Given the description of an element on the screen output the (x, y) to click on. 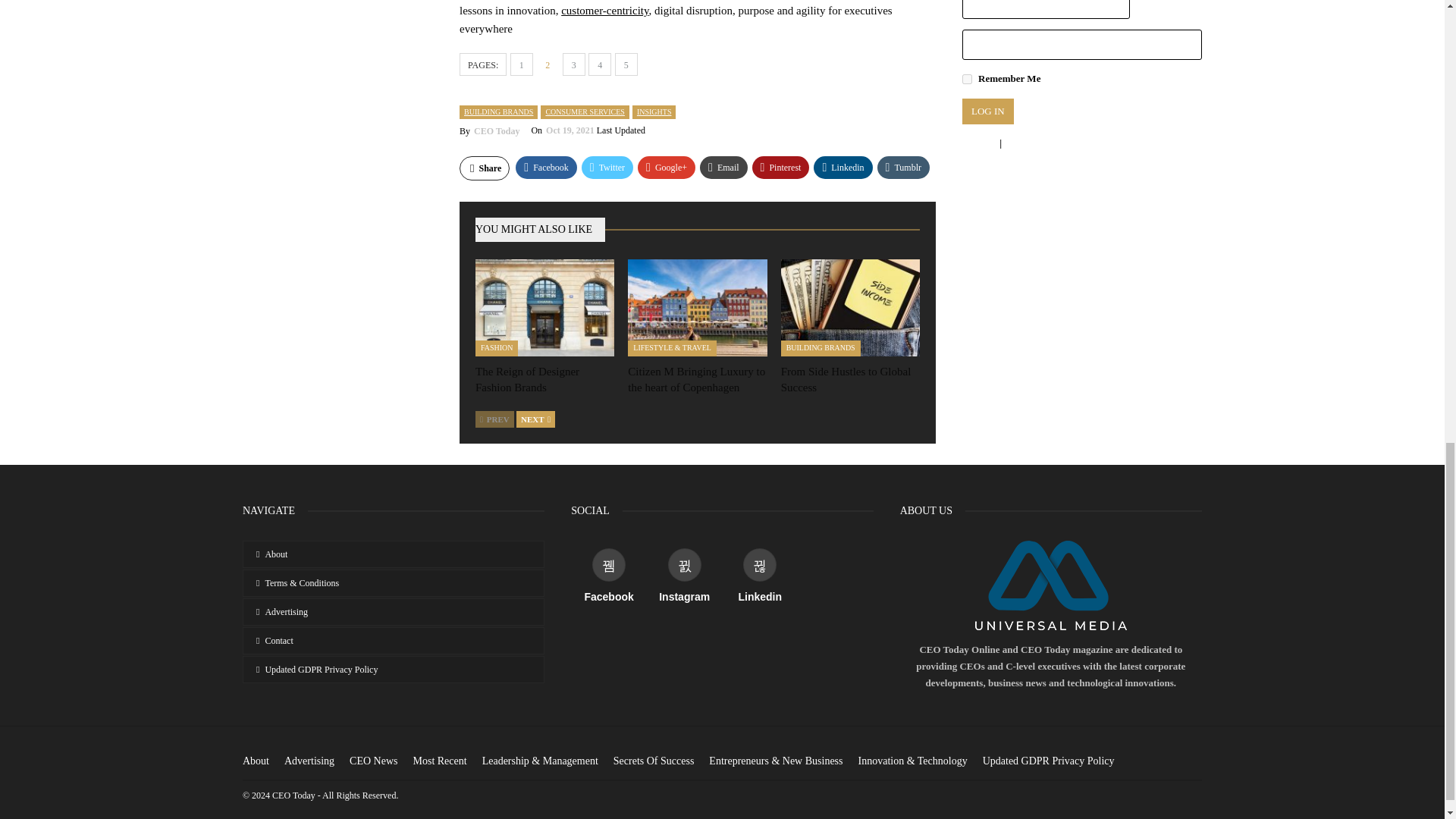
Log In (987, 111)
Citizen M Bringing Luxury to the heart of Copenhagen (697, 307)
Next (535, 419)
Previous (494, 419)
forever (967, 79)
From Side Hustles to Global Success (850, 307)
From Side Hustles to Global Success (845, 379)
Citizen M Bringing Luxury to the heart of Copenhagen (696, 379)
The Reign of Designer Fashion Brands (545, 307)
The Reign of Designer Fashion Brands (527, 379)
